Given the description of an element on the screen output the (x, y) to click on. 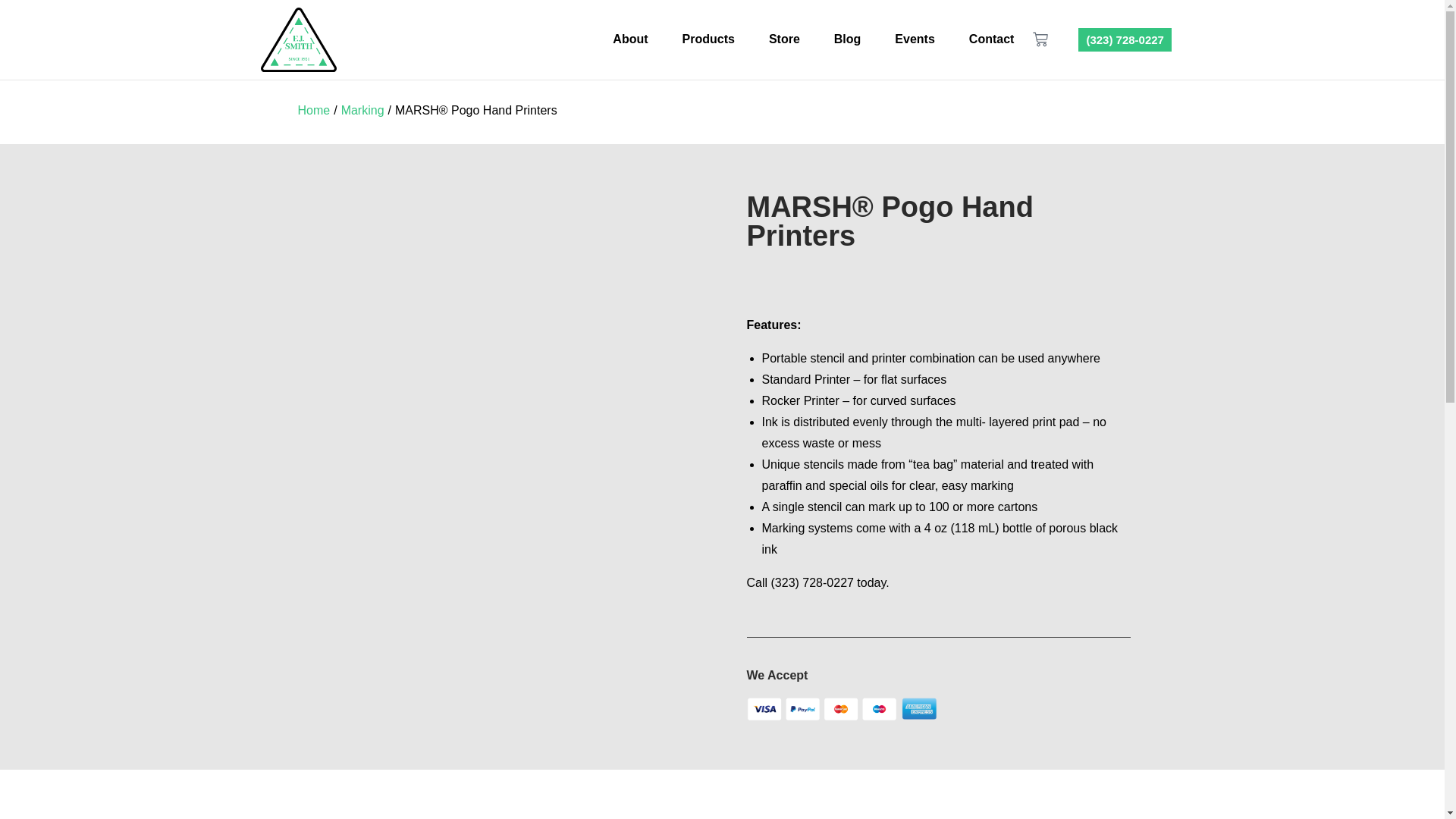
About (629, 38)
Store (783, 38)
Home (313, 110)
Marking (362, 110)
Events (914, 38)
Contact (991, 38)
Blog (847, 38)
Products (708, 38)
